Given the description of an element on the screen output the (x, y) to click on. 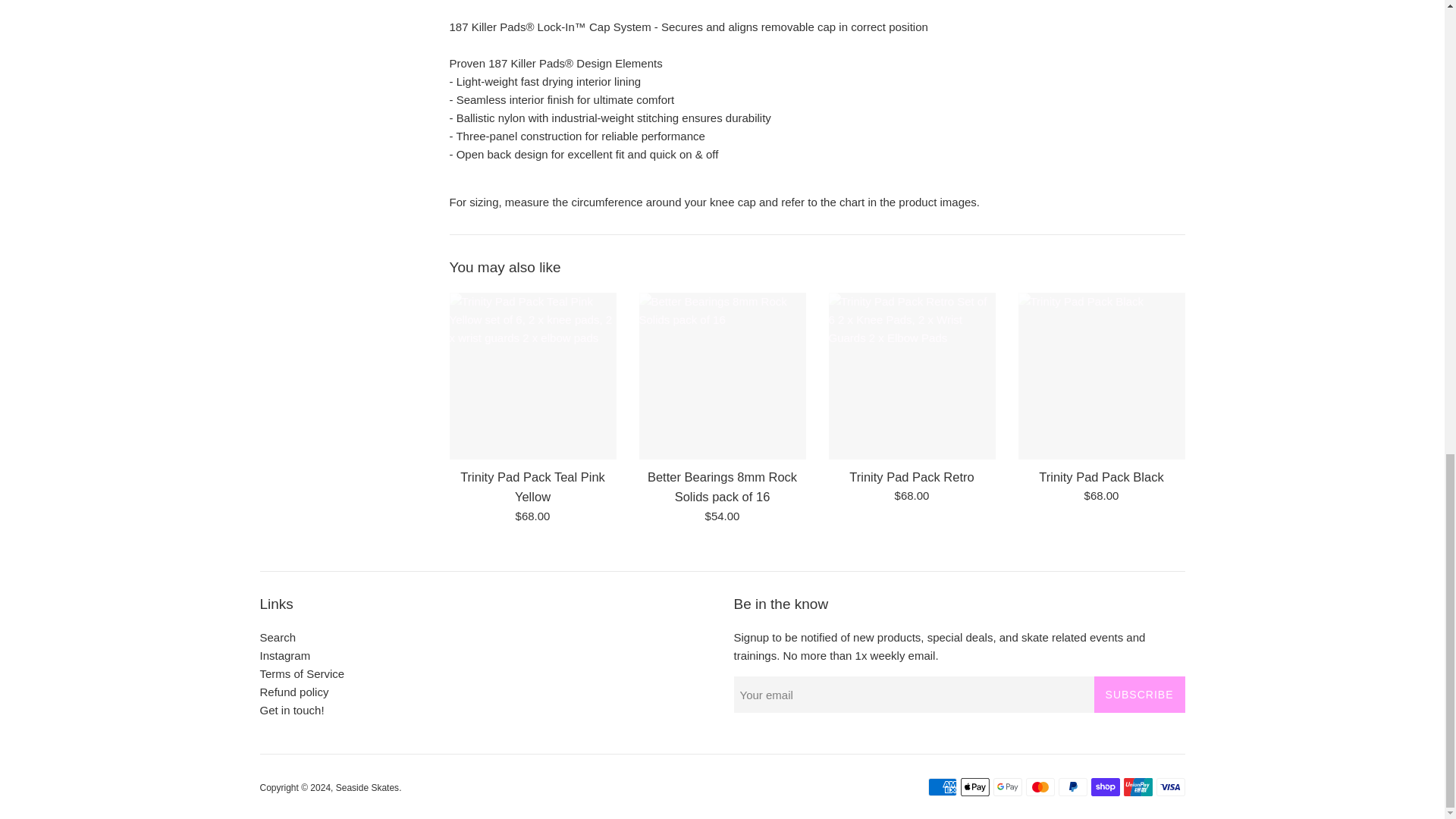
Google Pay (1007, 787)
Better Bearings 8mm Rock Solids pack of 16 (722, 375)
PayPal (1072, 787)
Trinity Pad Pack Black (1101, 375)
Mastercard (1039, 787)
Apple Pay (973, 787)
Shop Pay (1104, 787)
Trinity Pad Pack Teal Pink Yellow (531, 375)
Visa (1170, 787)
Trinity Pad Pack Retro (911, 375)
Union Pay (1138, 787)
American Express (942, 787)
